Given the description of an element on the screen output the (x, y) to click on. 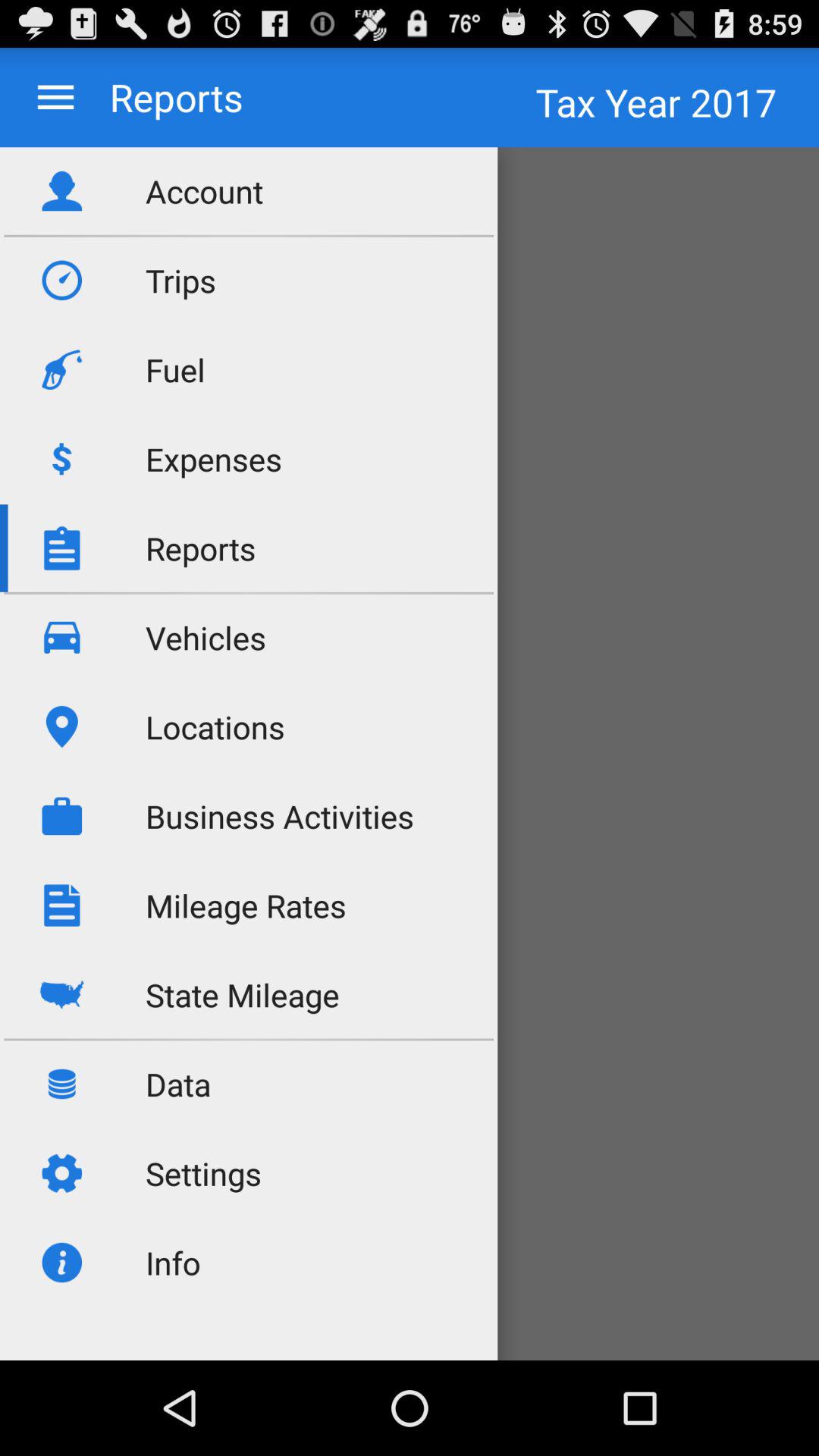
show menu (55, 97)
